Given the description of an element on the screen output the (x, y) to click on. 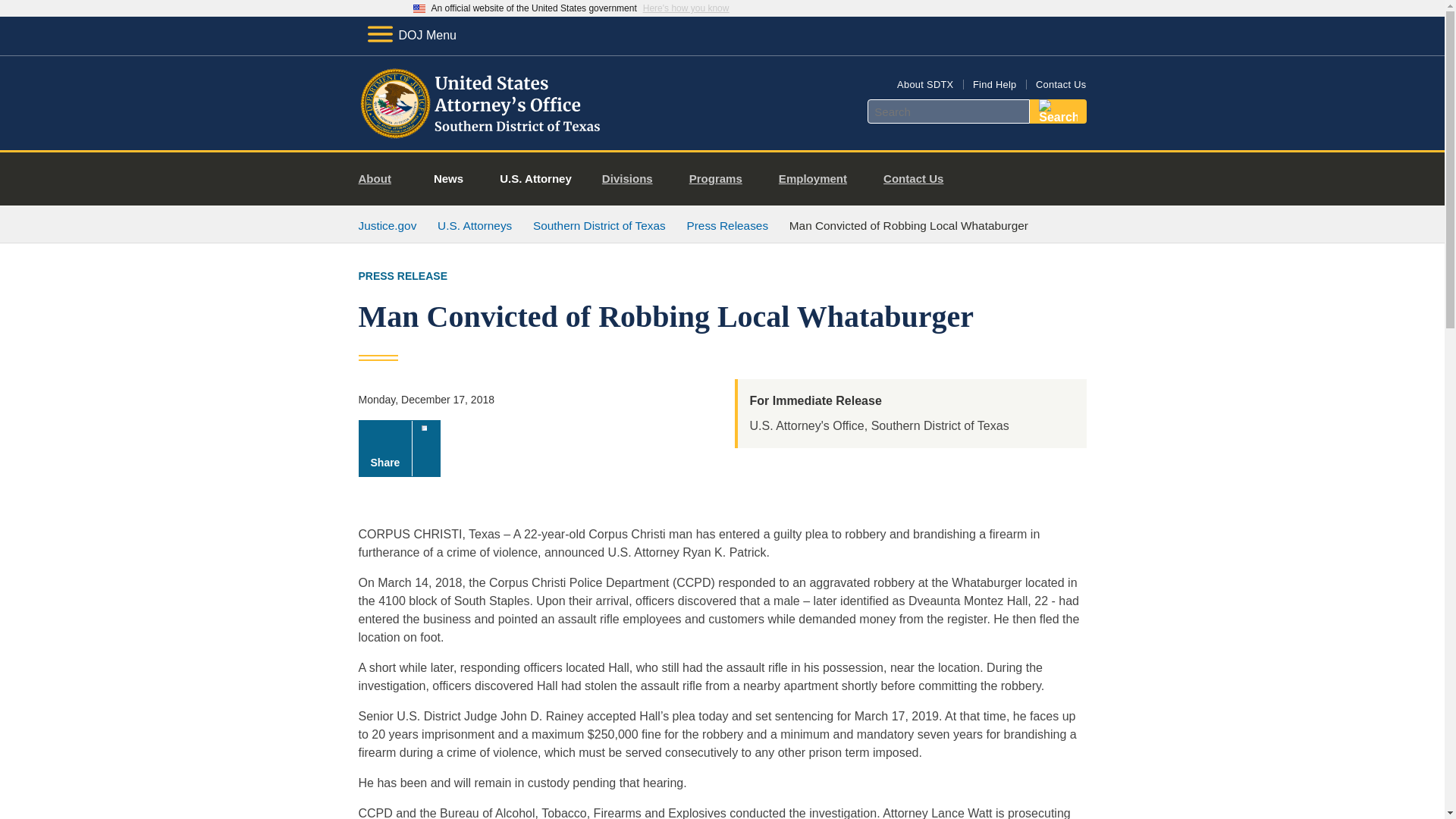
Home (481, 132)
Employment (818, 179)
Contact Us (1060, 84)
About (380, 179)
U.S. Attorney (535, 179)
Programs (722, 179)
Find Help (994, 84)
Contact Us (919, 179)
News (447, 179)
About SDTX (924, 84)
